Given the description of an element on the screen output the (x, y) to click on. 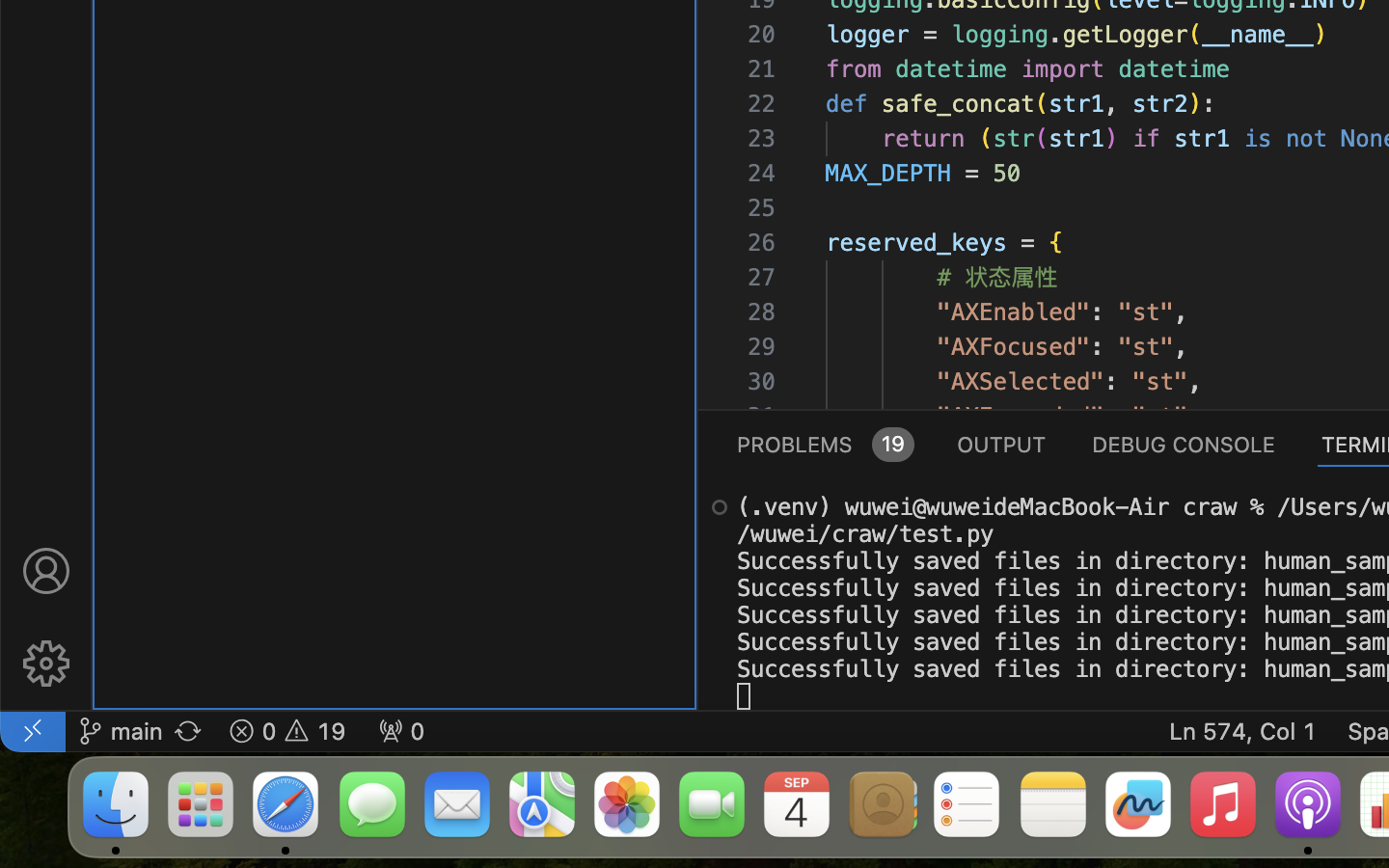
 0 Element type: AXButton (400, 730)
0 PROBLEMS 19 Element type: AXRadioButton (824, 443)
 Element type: AXStaticText (719, 506)
0 OUTPUT Element type: AXRadioButton (1001, 443)
0 DEBUG CONSOLE Element type: AXRadioButton (1183, 443)
